Given the description of an element on the screen output the (x, y) to click on. 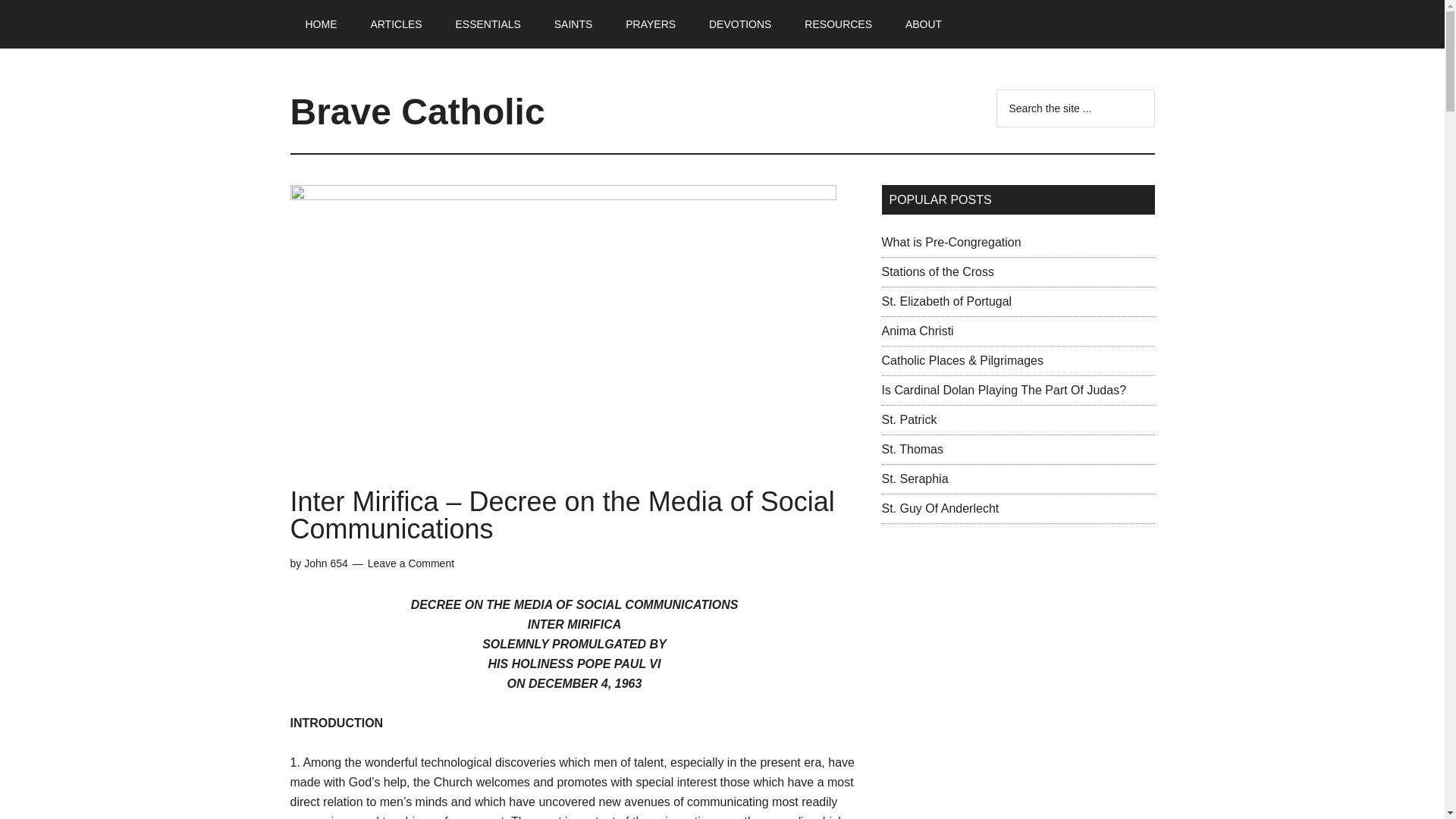
St. Thomas (911, 449)
St. Guy Of Anderlecht (939, 508)
ESSENTIALS (487, 24)
SAINTS (573, 24)
ARTICLES (395, 24)
St. Patrick (908, 419)
PRAYERS (650, 24)
HOME (320, 24)
